Given the description of an element on the screen output the (x, y) to click on. 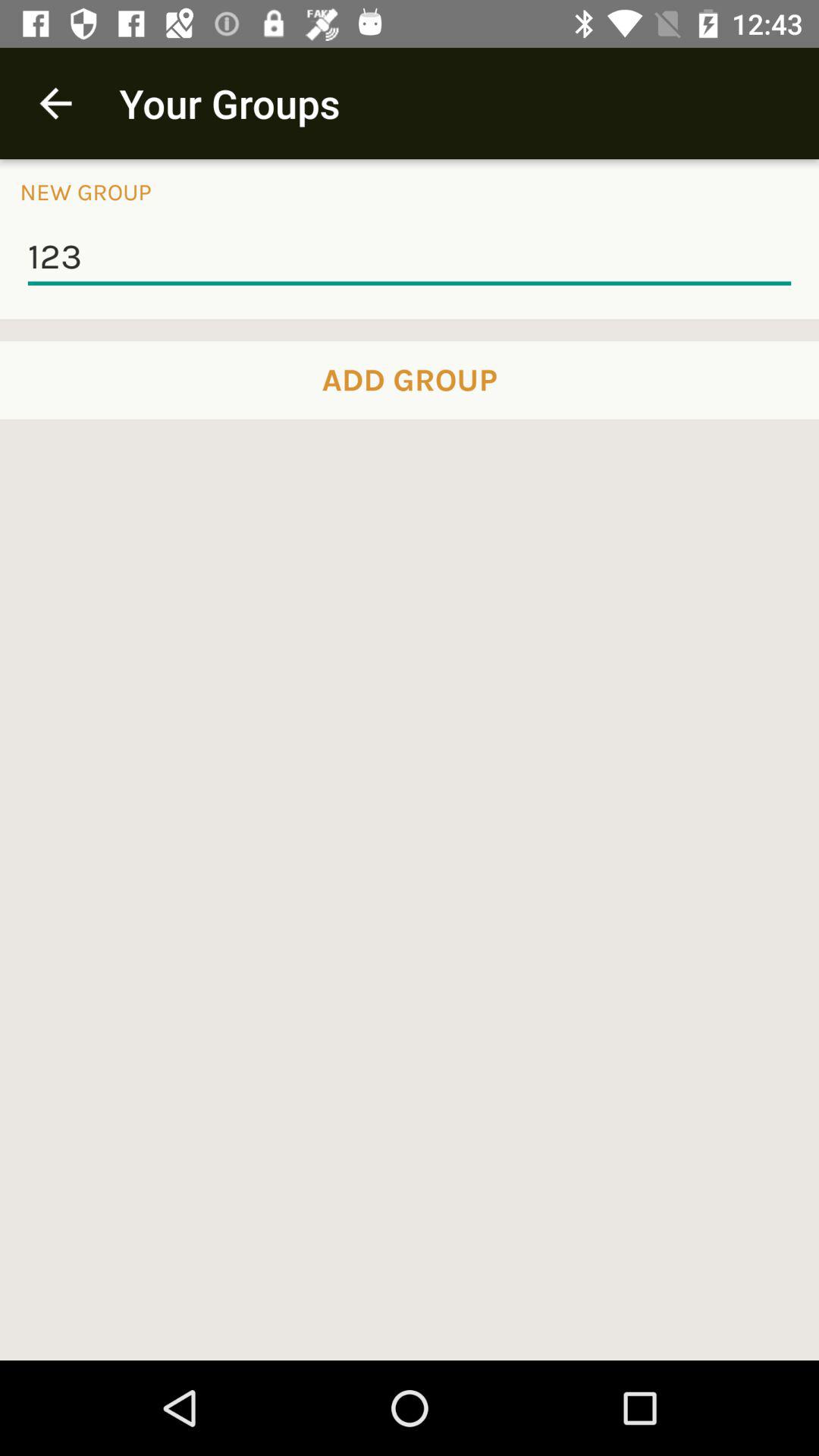
swipe to the 123 icon (409, 257)
